Given the description of an element on the screen output the (x, y) to click on. 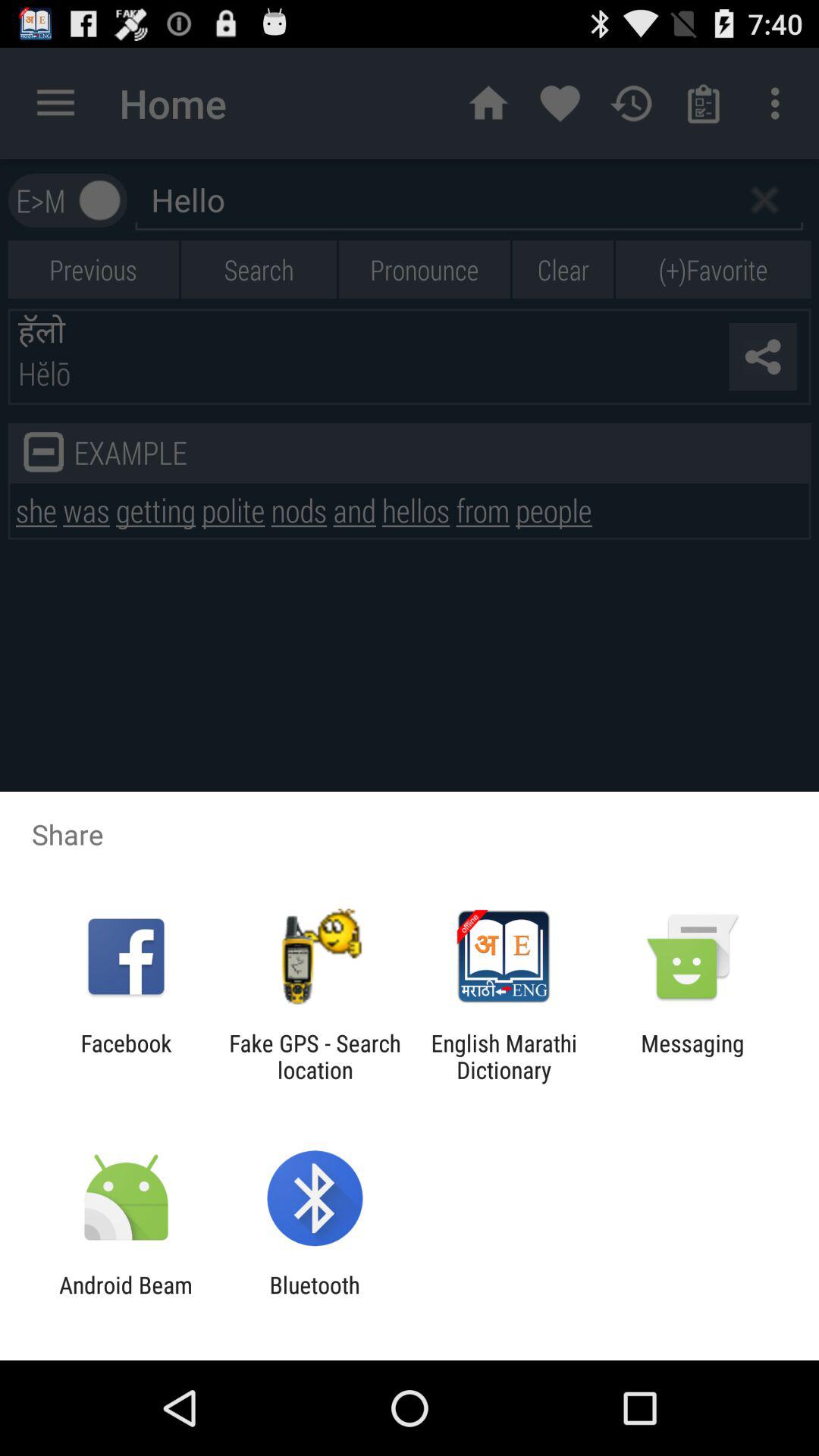
turn off fake gps search item (314, 1056)
